Given the description of an element on the screen output the (x, y) to click on. 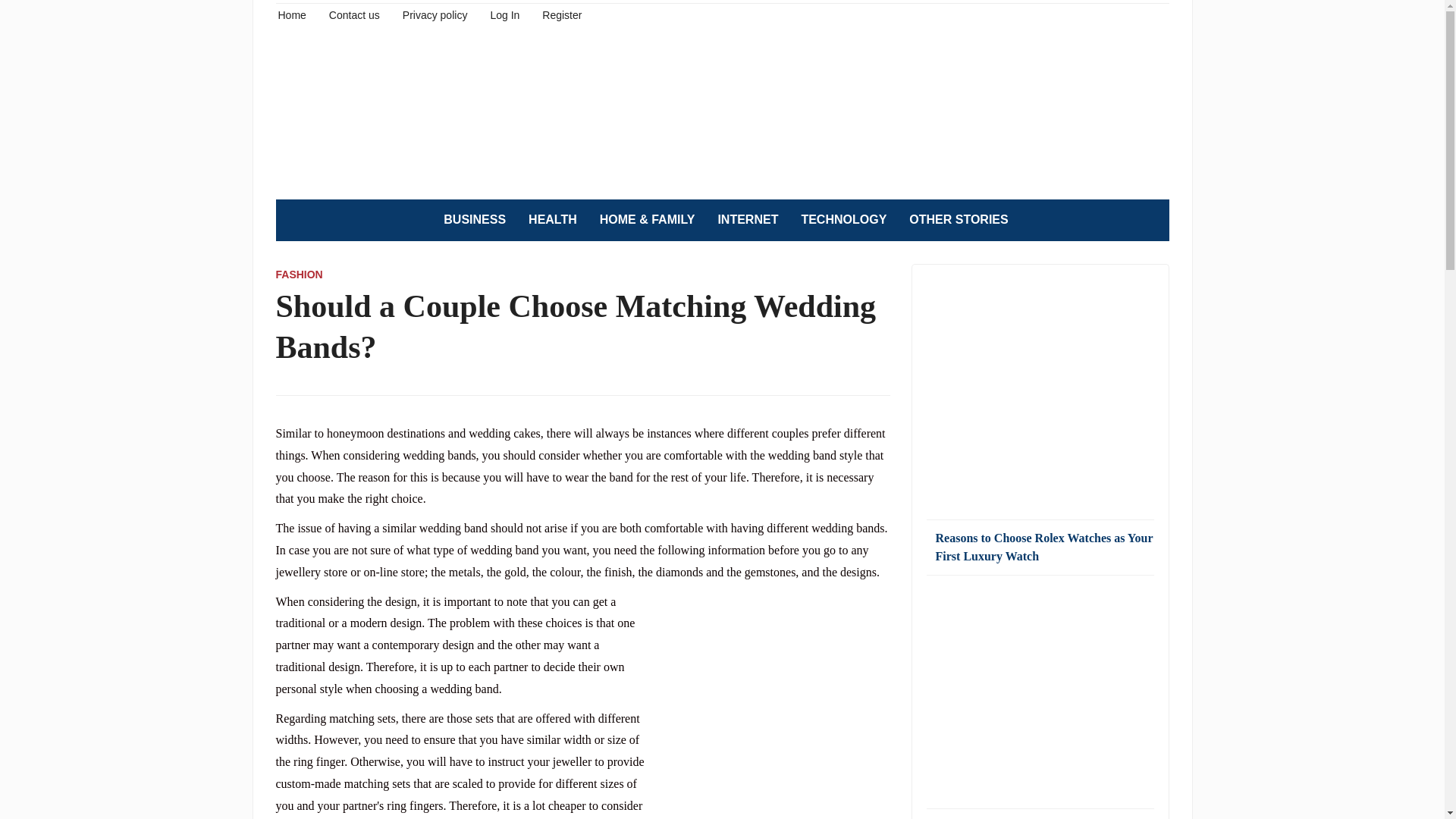
Search (1149, 219)
Contact us (354, 14)
Register (560, 14)
Home (291, 14)
Privacy policy (435, 14)
Log In (504, 14)
